Given the description of an element on the screen output the (x, y) to click on. 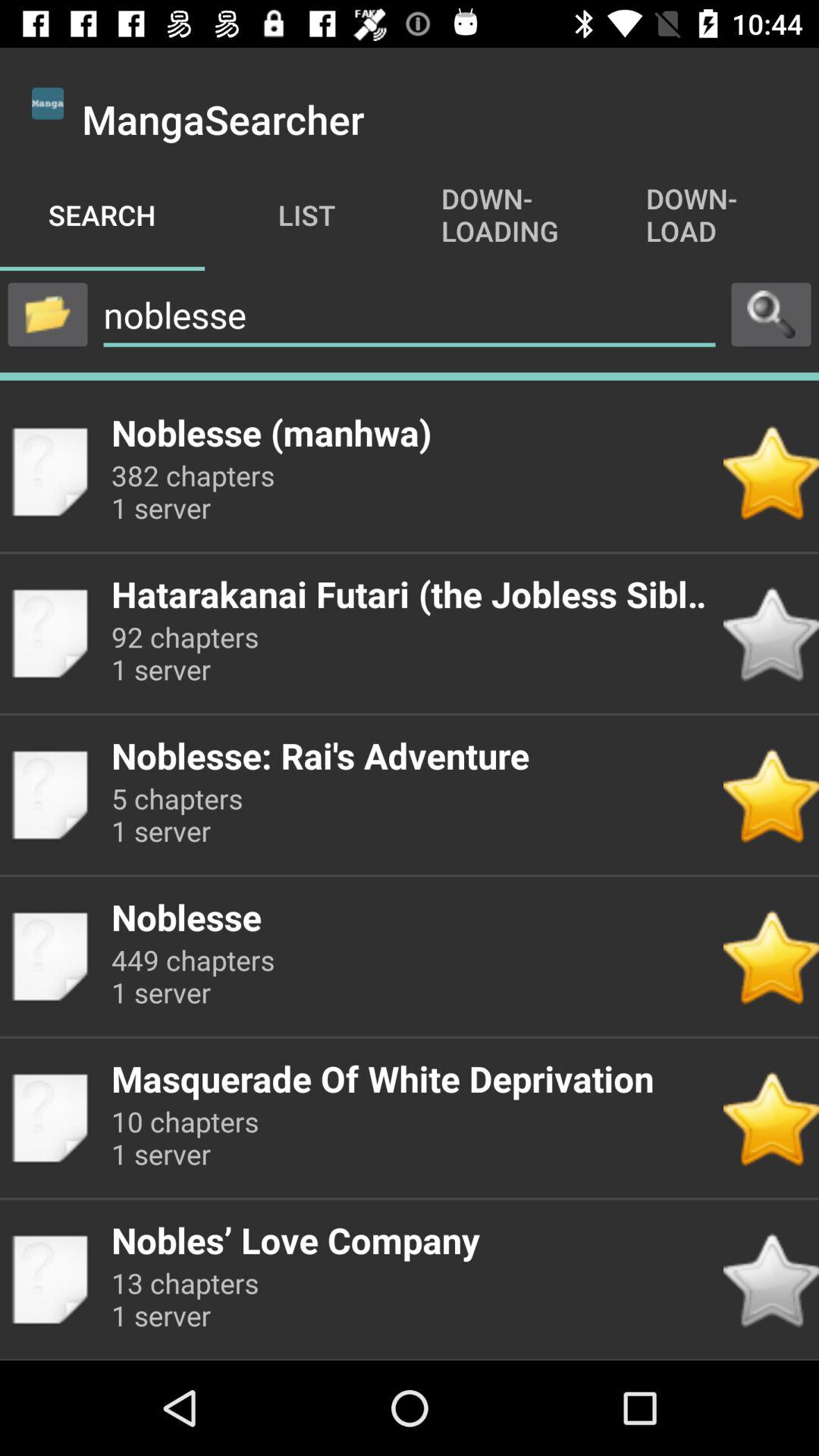
click on the noblesse beside the search icon below search (409, 315)
select the third star icon on the bottom right side of the web page (771, 956)
